Given the description of an element on the screen output the (x, y) to click on. 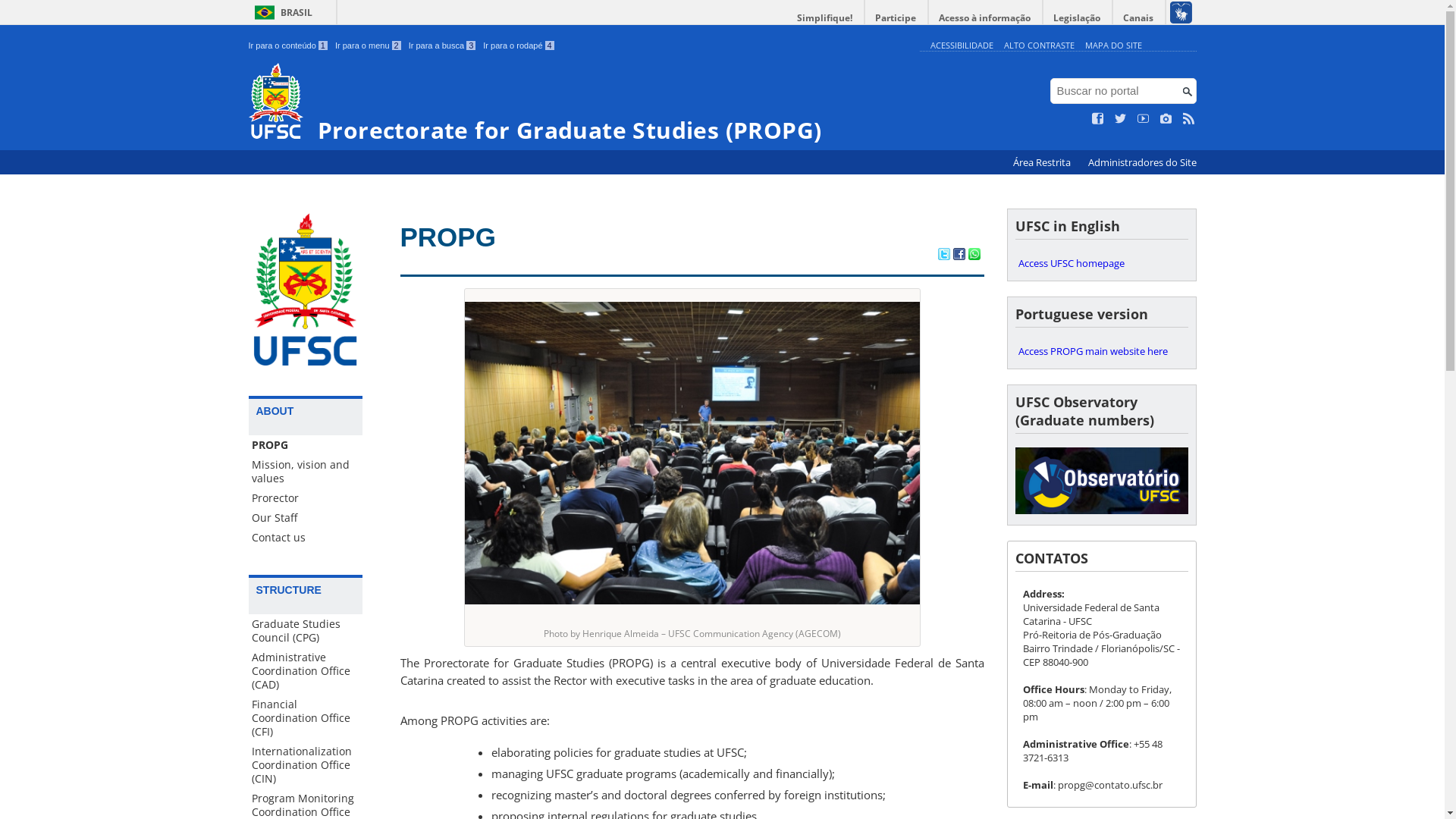
Graduate Studies Council (CPG) Element type: text (305, 630)
MAPA DO SITE Element type: text (1112, 44)
Mission, vision and values Element type: text (305, 471)
BRASIL Element type: text (280, 12)
Compartilhar no Facebook Element type: hover (958, 255)
Contact us Element type: text (305, 537)
Administrative Coordination Office (CAD) Element type: text (305, 670)
Participe Element type: text (895, 18)
Administradores do Site Element type: text (1141, 162)
Internationalization Coordination Office (CIN) Element type: text (305, 764)
Our Staff Element type: text (305, 517)
Ir para a busca 3 Element type: text (442, 45)
PROPG Element type: text (305, 445)
Access UFSC homepage Element type: text (1100, 263)
ALTO CONTRASTE Element type: text (1039, 44)
PROPG Element type: text (447, 236)
Prorectorate for Graduate Studies (PROPG) Element type: text (580, 102)
Access PROPG main website here Element type: text (1100, 350)
Canais Element type: text (1138, 18)
Simplifique! Element type: text (825, 18)
Compartilhar no Twitter Element type: hover (943, 255)
Compartilhar no WhatsApp Element type: hover (973, 255)
Prorector Element type: text (305, 498)
Financial Coordination Office (CFI) Element type: text (305, 717)
Veja no Instagram Element type: hover (1166, 118)
Ir para o menu 2 Element type: text (368, 45)
Curta no Facebook Element type: hover (1098, 118)
Siga no Twitter Element type: hover (1120, 118)
ACESSIBILIDADE Element type: text (960, 44)
